Given the description of an element on the screen output the (x, y) to click on. 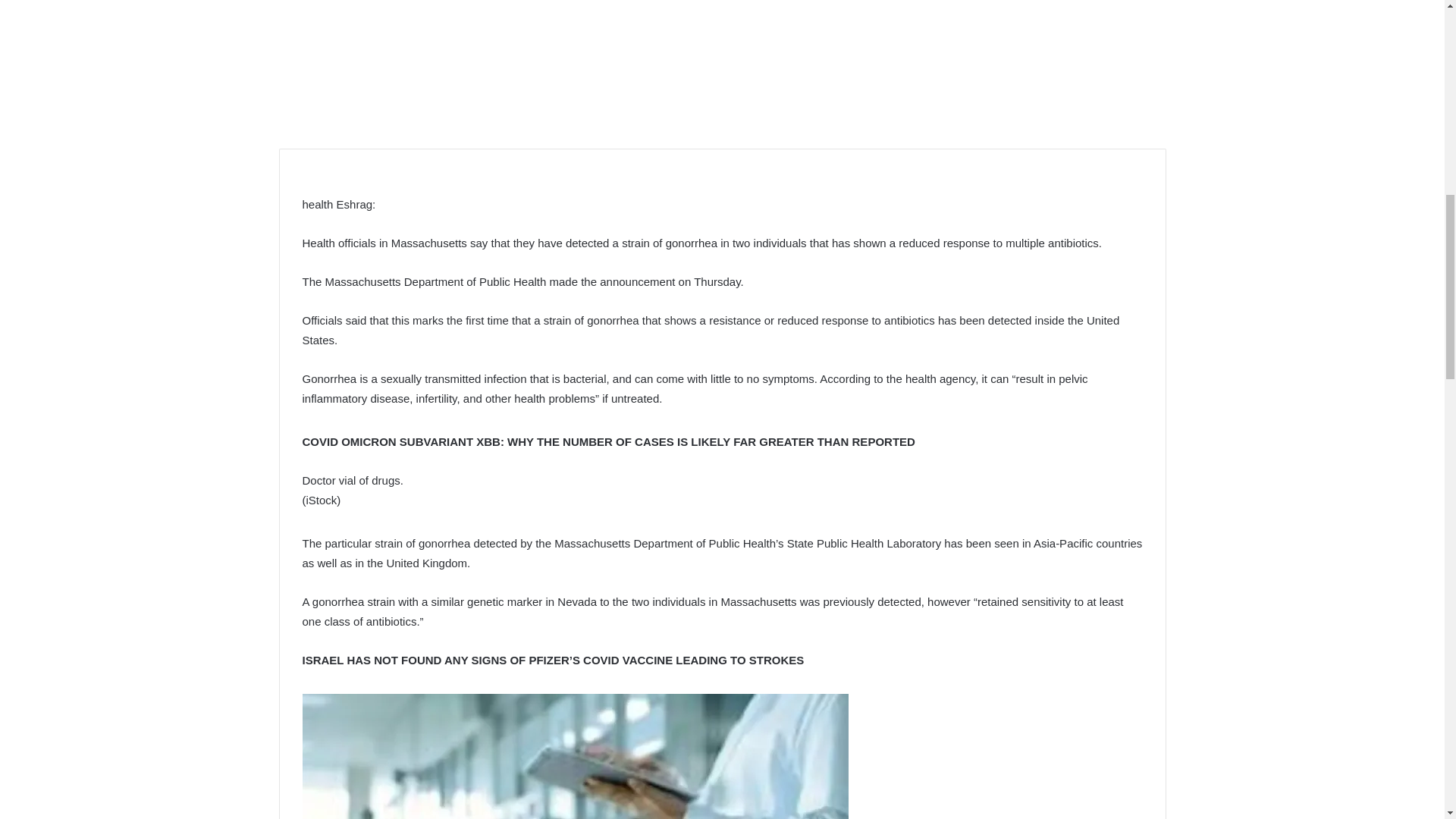
Advertisement (722, 63)
